Given the description of an element on the screen output the (x, y) to click on. 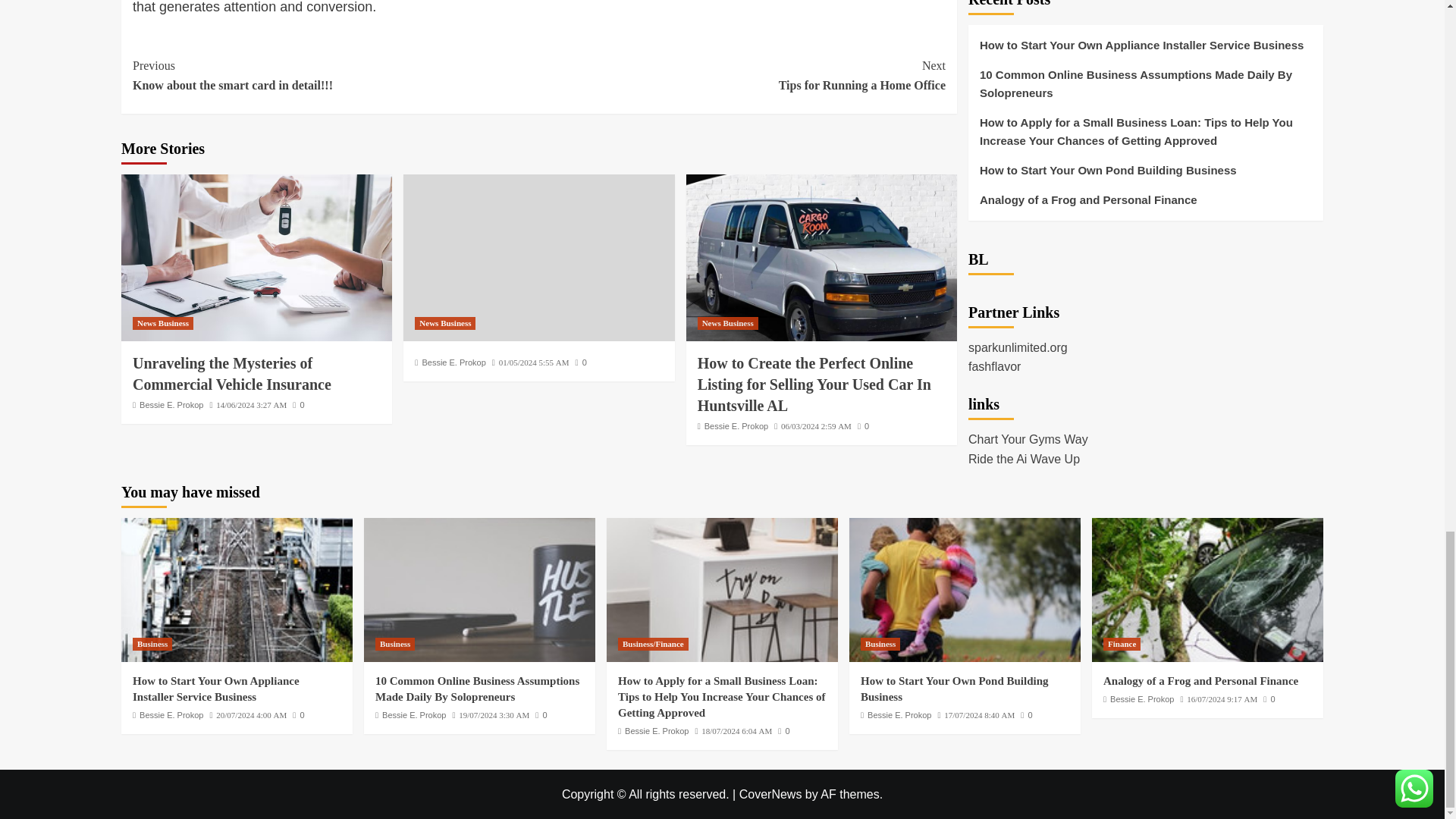
News Business (162, 323)
Unraveling the Mysteries of Commercial Vehicle Insurance (335, 75)
0 (741, 75)
Unraveling the Mysteries of Commercial Vehicle Insurance (255, 257)
Bessie E. Prokop (298, 404)
News Business (231, 373)
